Given the description of an element on the screen output the (x, y) to click on. 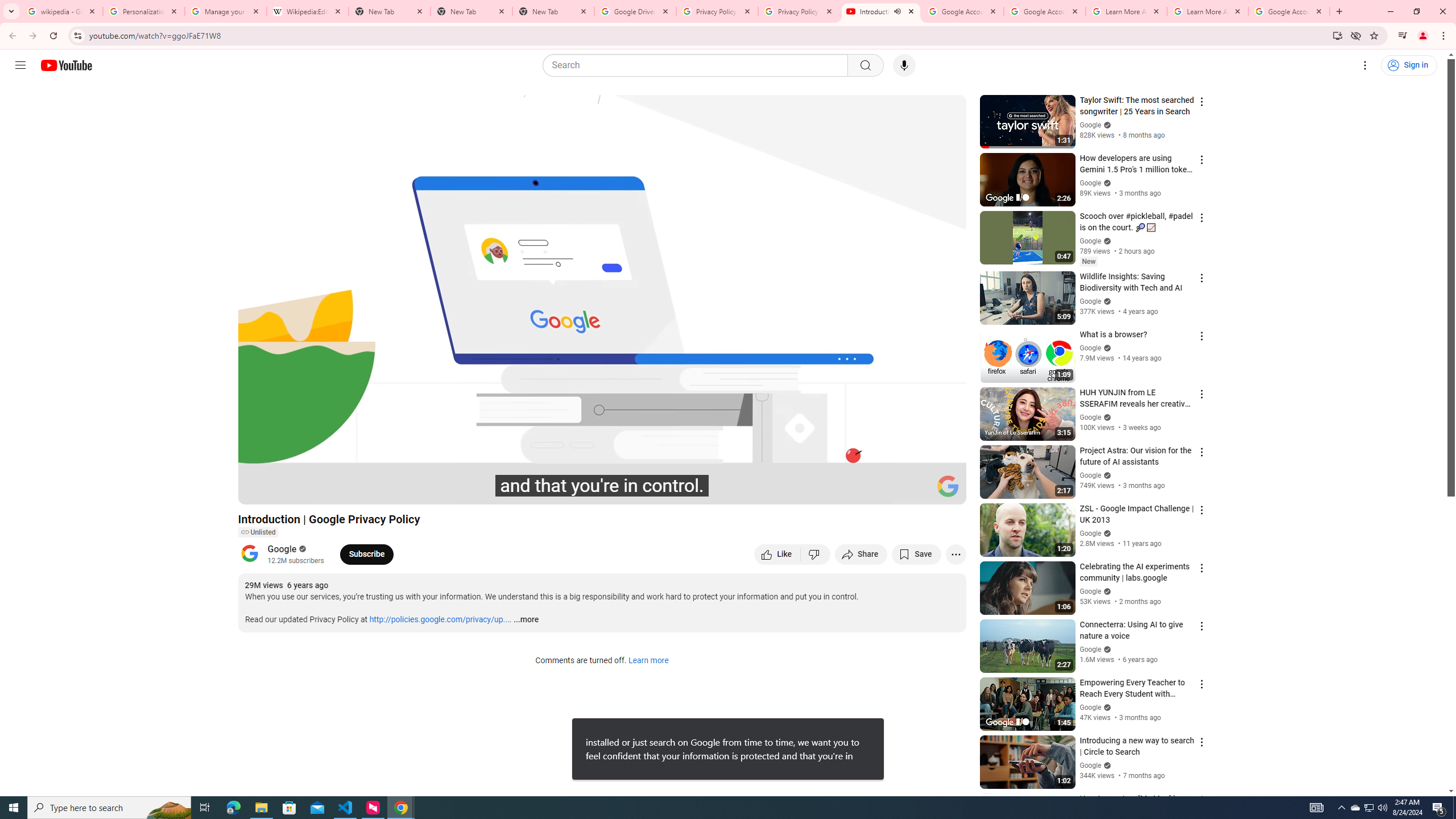
Mute (m) (312, 490)
New (1087, 261)
Next (SHIFT+n) (284, 490)
More actions (955, 554)
New Tab (470, 11)
YouTube Home (66, 65)
Like (777, 554)
